Given the description of an element on the screen output the (x, y) to click on. 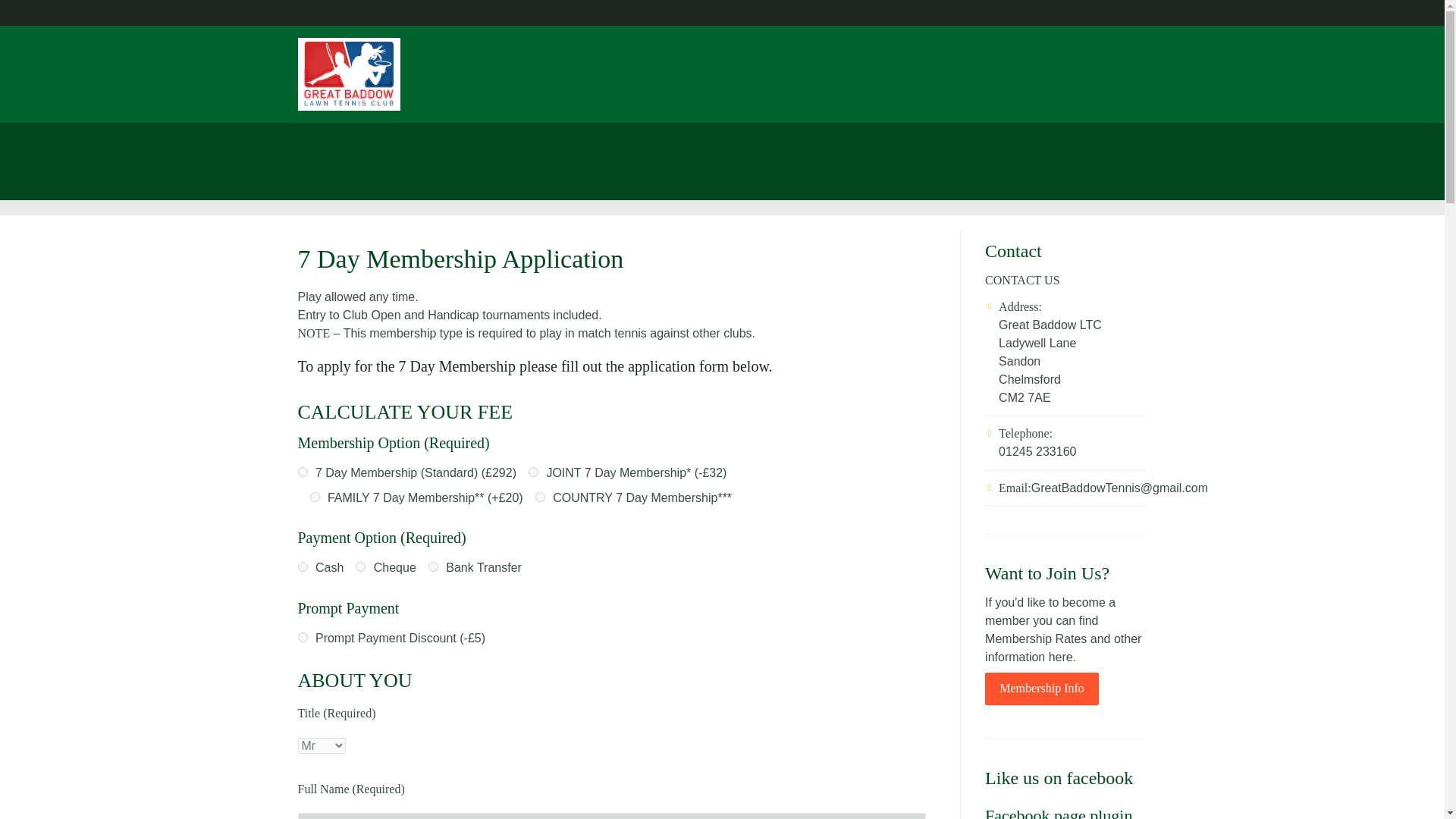
Membership Info (1042, 688)
Cheque (360, 566)
Cash (302, 566)
Facebook page plugin loading... (1058, 812)
Bank Transfer (433, 566)
